Given the description of an element on the screen output the (x, y) to click on. 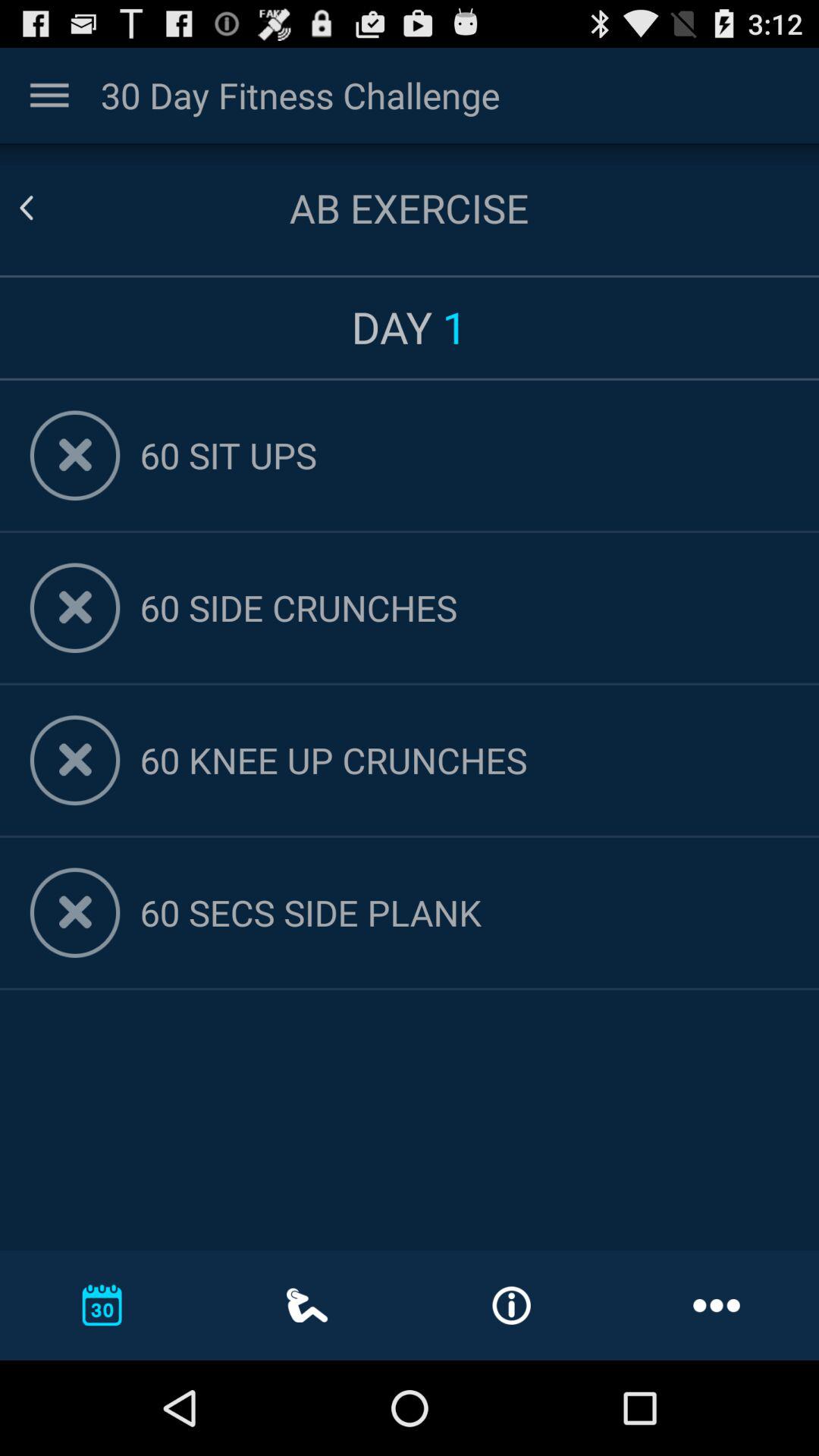
remove this exercice (75, 760)
